Given the description of an element on the screen output the (x, y) to click on. 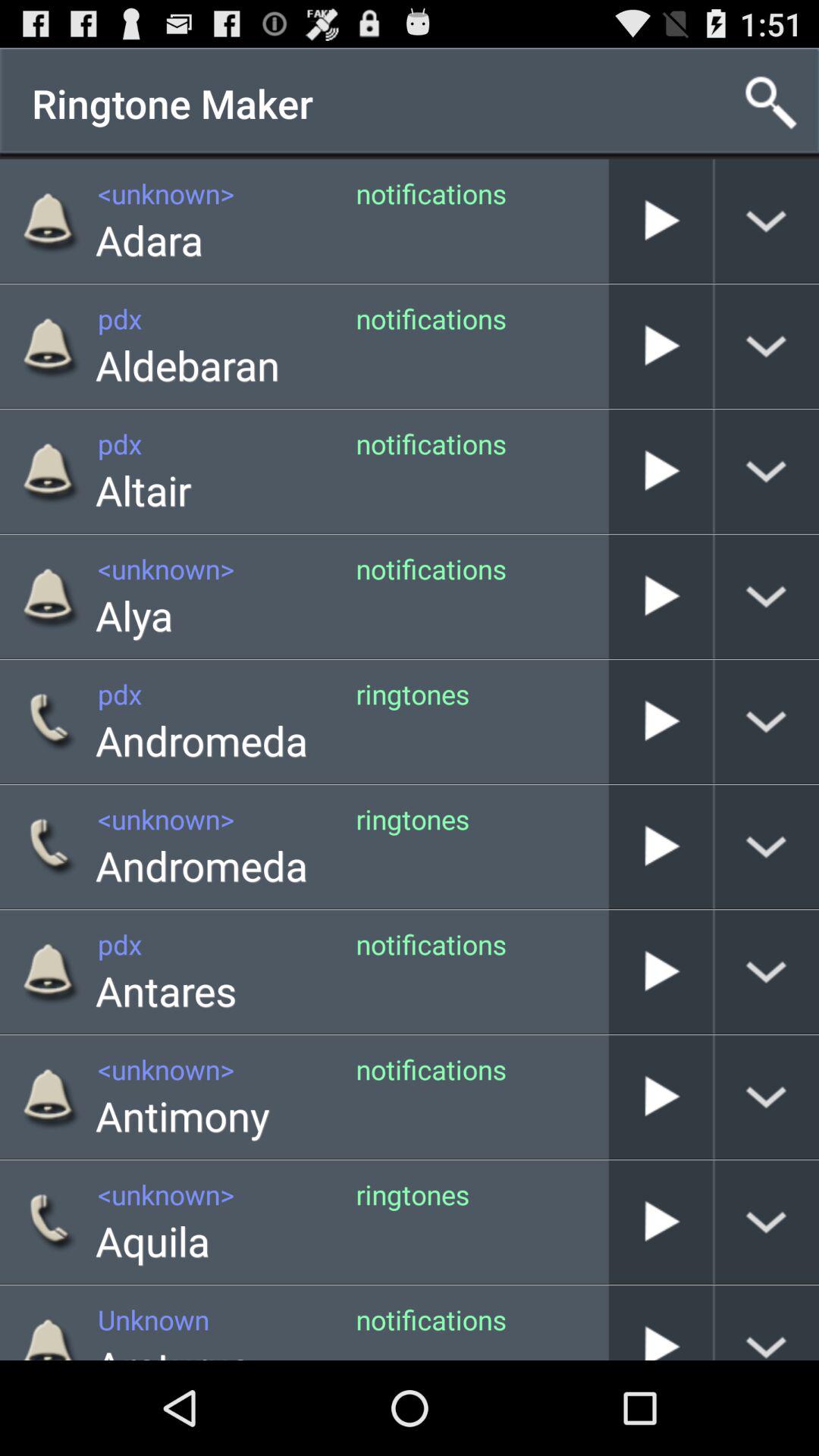
click the icon to the right of the ringtones icon (608, 1222)
